Given the description of an element on the screen output the (x, y) to click on. 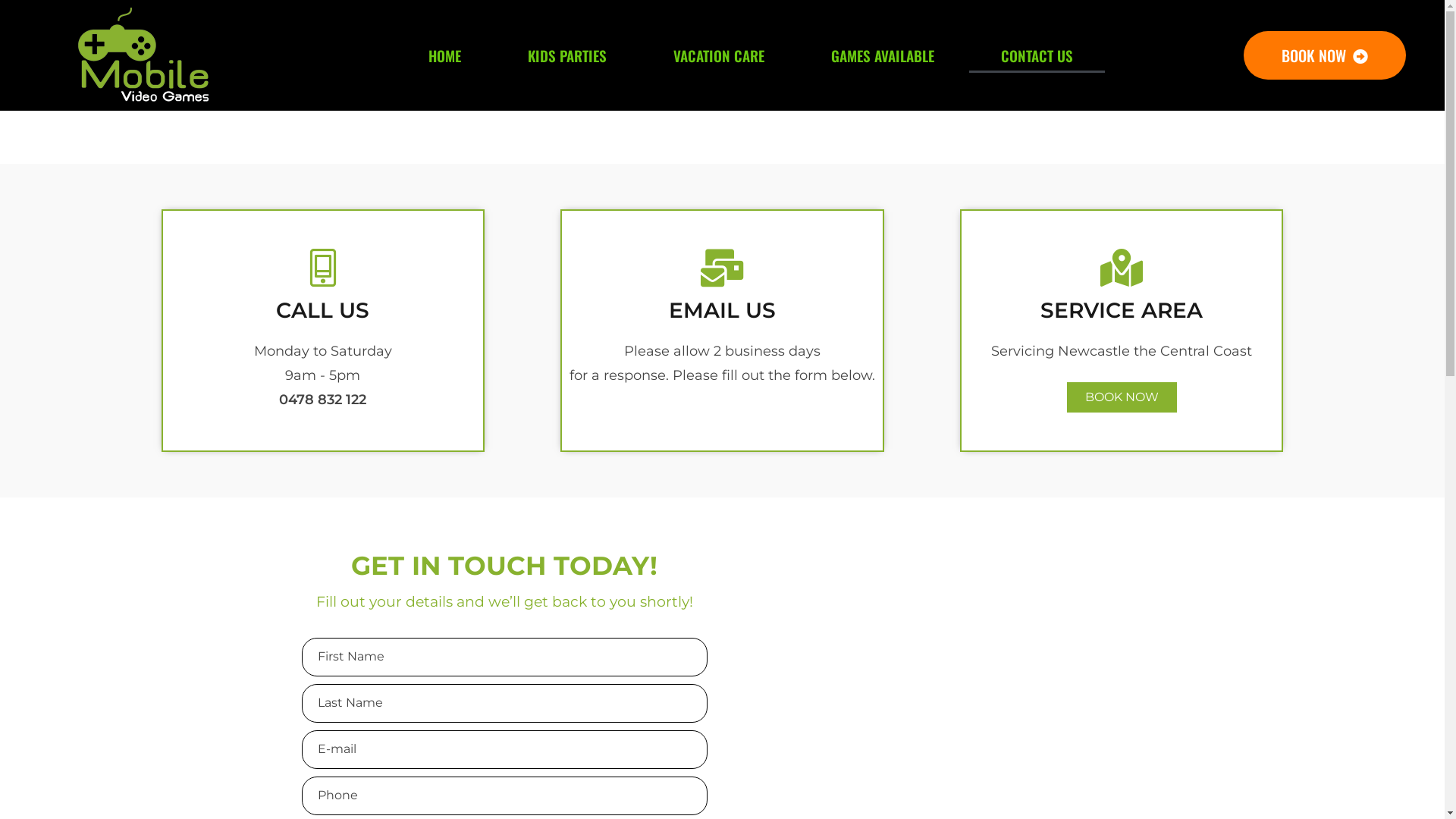
GAMES AVAILABLE Element type: text (882, 54)
CALL US Element type: text (322, 310)
HOME Element type: text (444, 54)
BOOK NOW Element type: text (1121, 397)
BOOK NOW Element type: text (1324, 54)
SERVICE AREA Element type: text (1121, 310)
CONTACT US Element type: text (1036, 54)
VACATION CARE Element type: text (718, 54)
KIDS PARTIES Element type: text (566, 54)
EMAIL US Element type: text (721, 310)
